Given the description of an element on the screen output the (x, y) to click on. 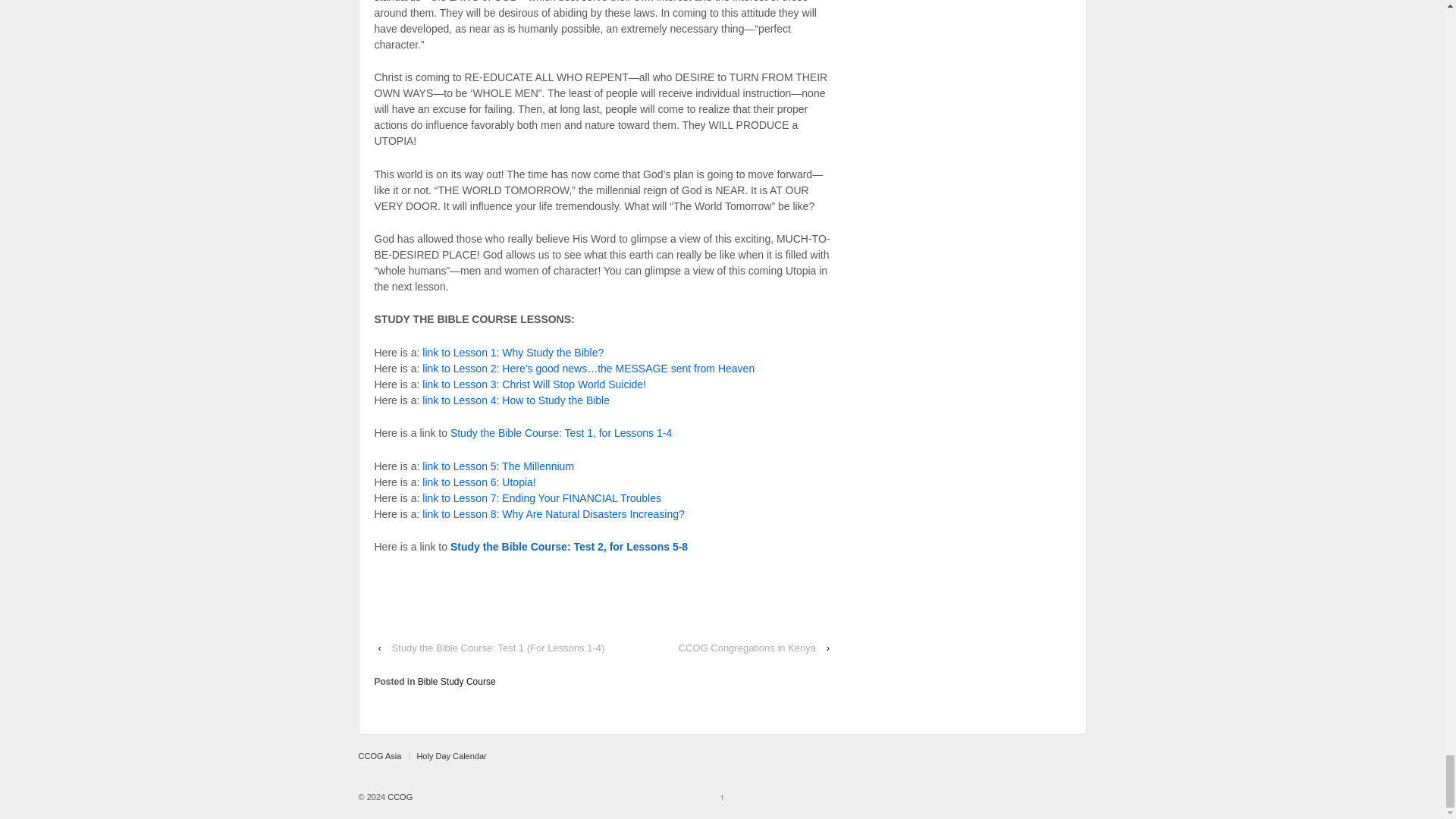
CCOG (398, 796)
